Given the description of an element on the screen output the (x, y) to click on. 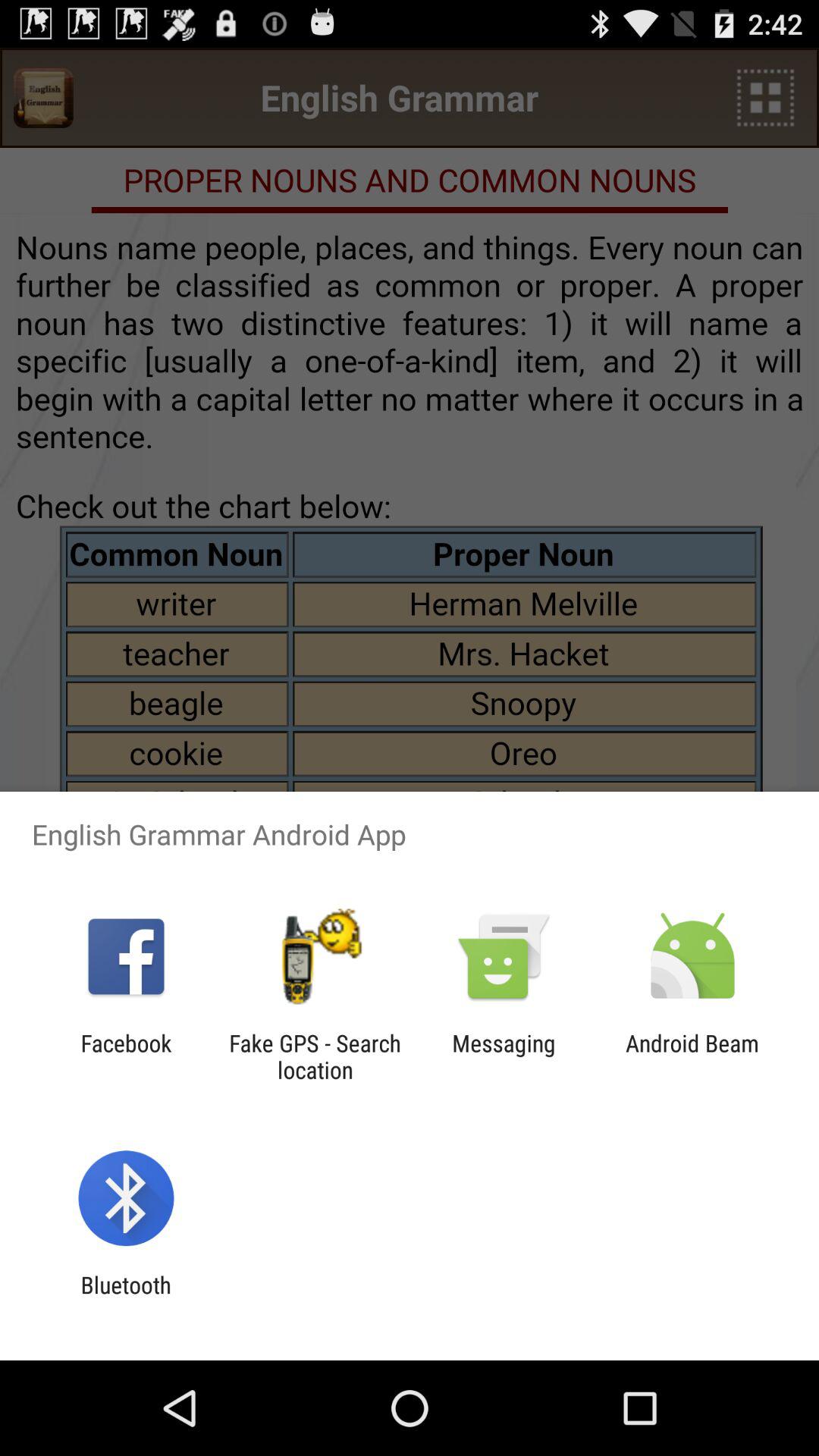
turn off the item next to the messaging (692, 1056)
